Given the description of an element on the screen output the (x, y) to click on. 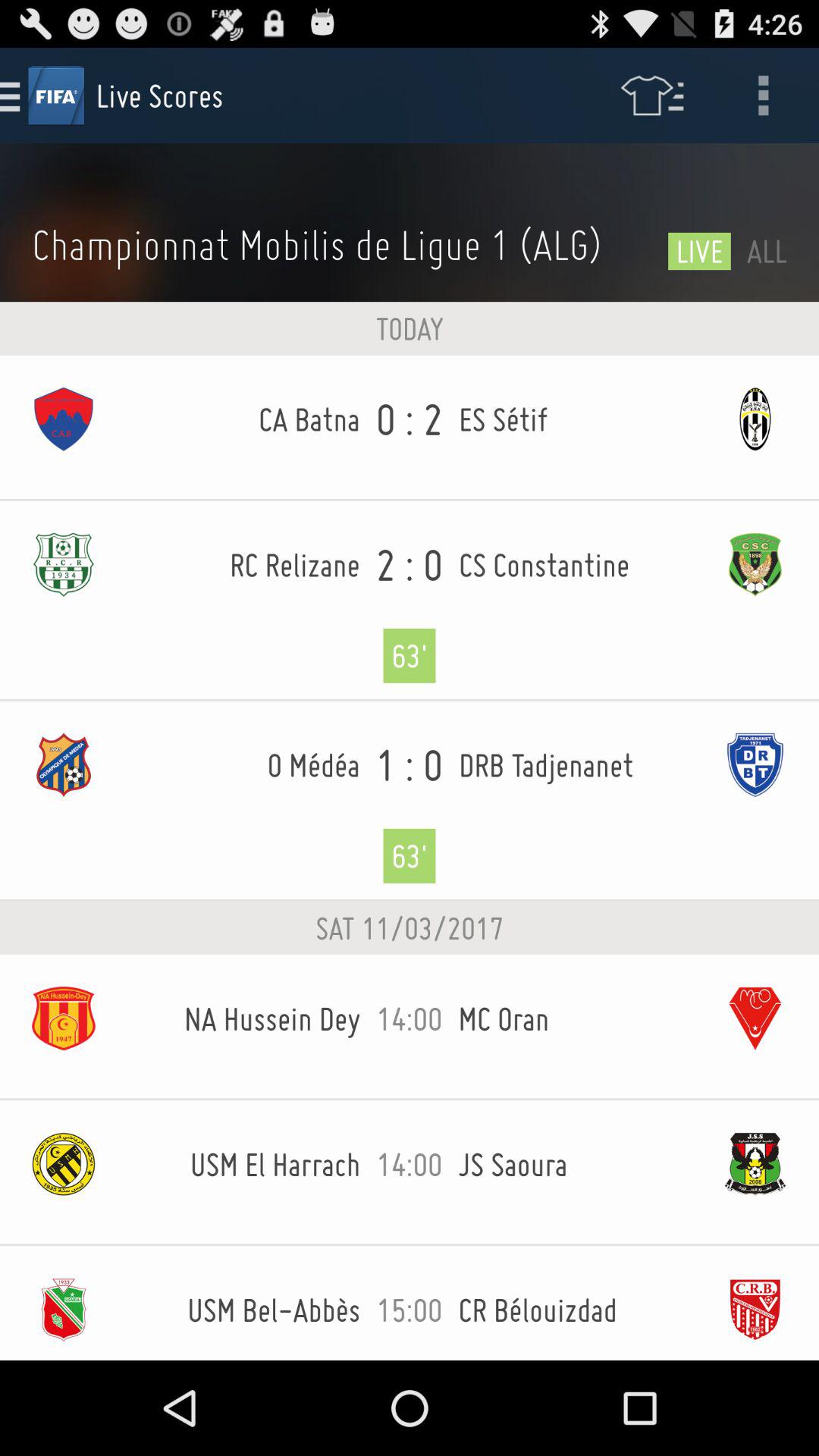
click the championnat mobilis de item (341, 244)
